Given the description of an element on the screen output the (x, y) to click on. 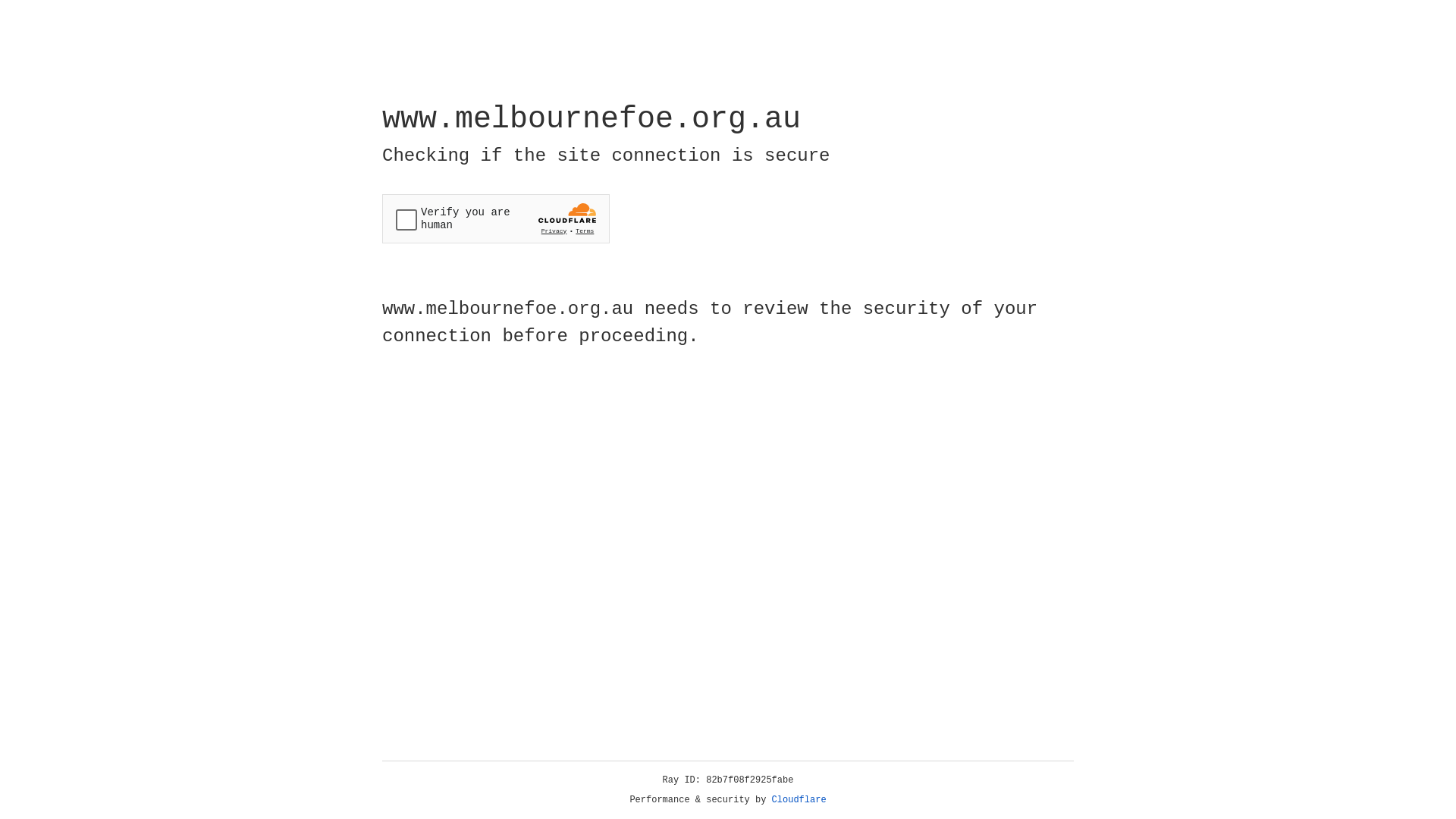
Cloudflare Element type: text (798, 799)
Widget containing a Cloudflare security challenge Element type: hover (495, 218)
